Given the description of an element on the screen output the (x, y) to click on. 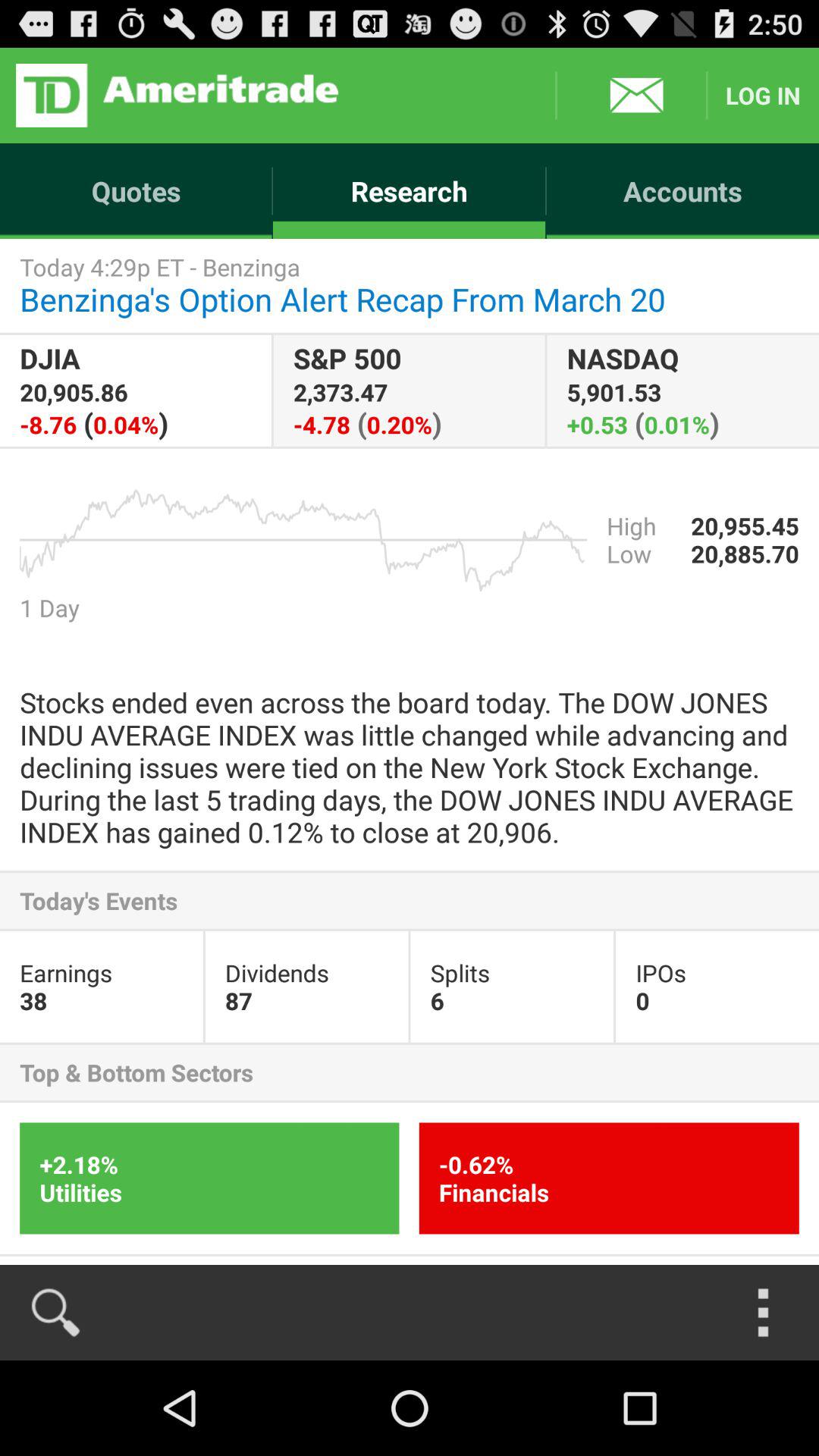
open the item next to the quotes (409, 190)
